Given the description of an element on the screen output the (x, y) to click on. 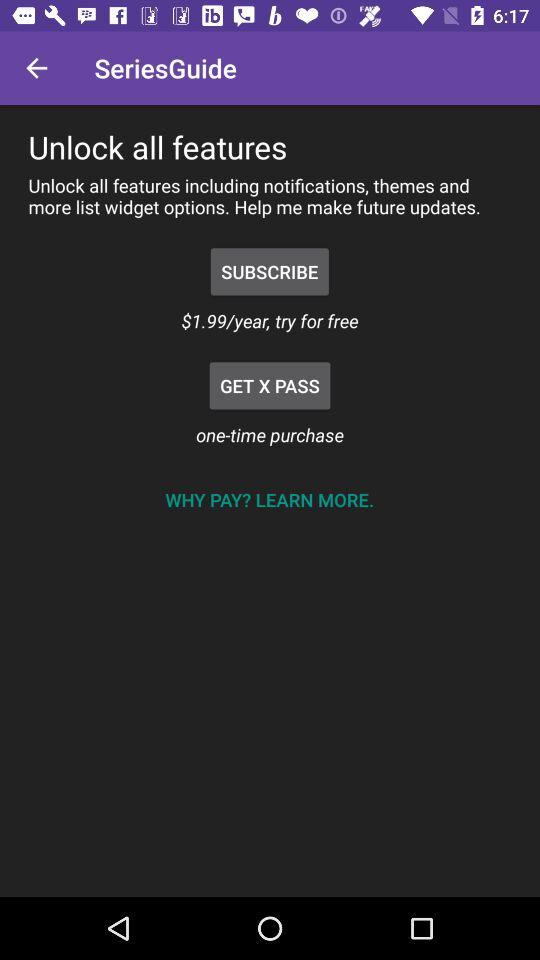
flip to why pay learn item (269, 499)
